Given the description of an element on the screen output the (x, y) to click on. 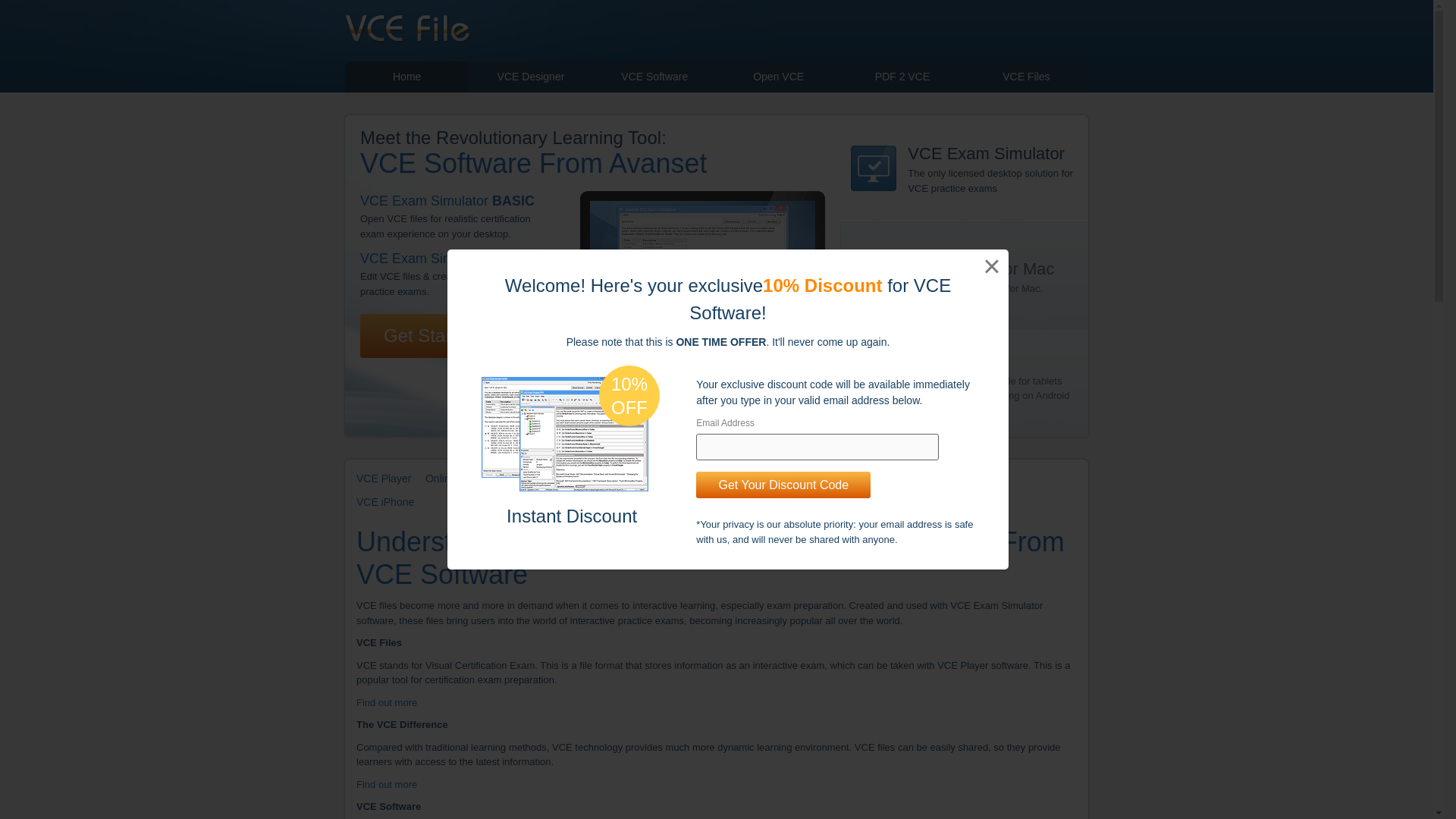
Find out more (386, 702)
Open VCE (778, 76)
VCE Software (654, 76)
Get Started (429, 335)
VCE Player (383, 478)
VCE Cracks (526, 478)
Get Your Discount Code (782, 484)
Home (406, 76)
Find out more (386, 784)
PDF 2 VCE (901, 76)
Testing VCE (746, 478)
VCE iPhone (384, 501)
VCE Exam (595, 478)
VCE Suite (982, 478)
Onliner VCE (454, 478)
